Given the description of an element on the screen output the (x, y) to click on. 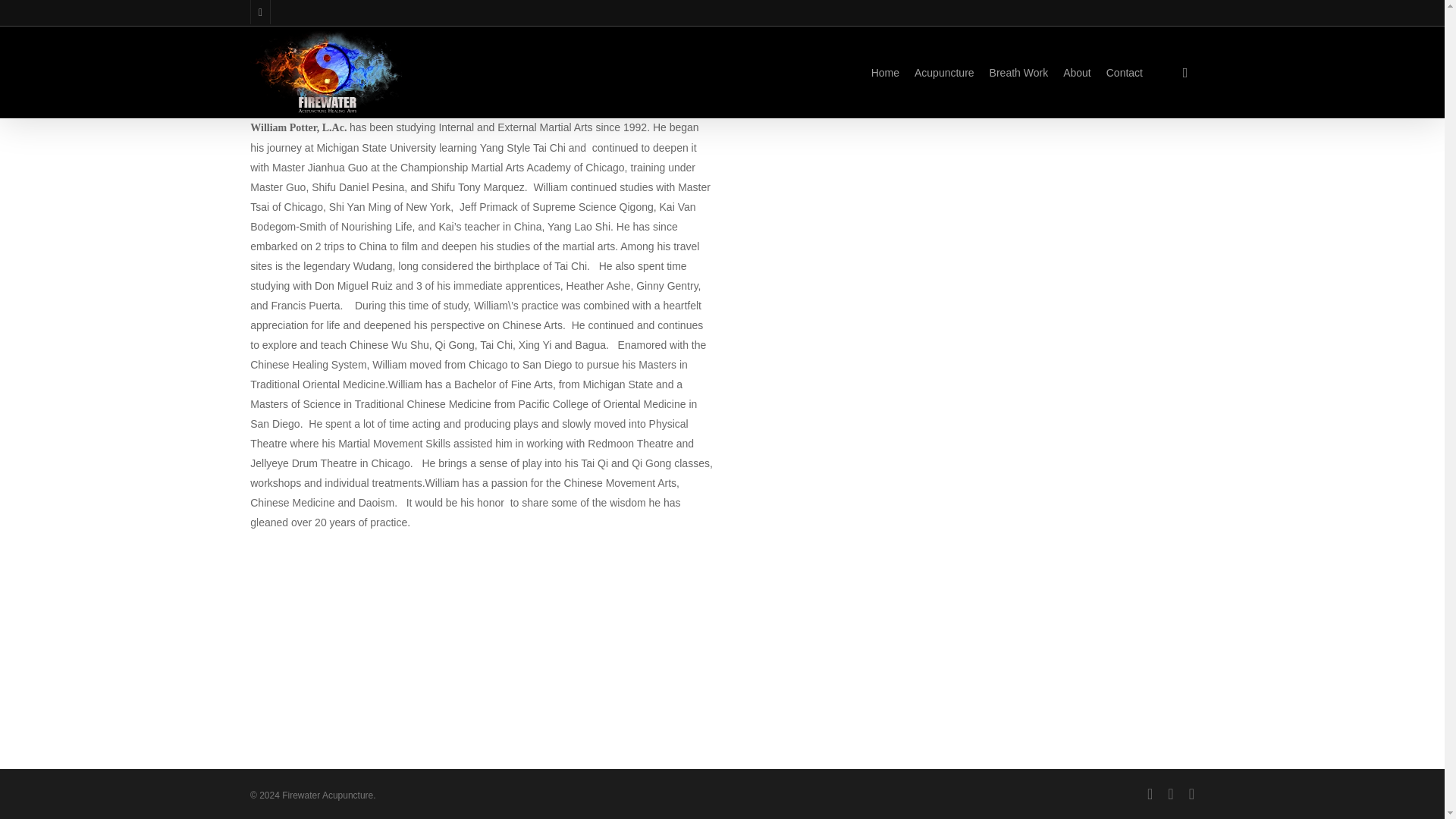
facebook (259, 12)
facebook (1170, 793)
twitter (1150, 793)
Home (884, 72)
search (1184, 72)
Contact (1124, 72)
Acupuncture (944, 72)
google-plus (1191, 793)
About (1076, 72)
Breath Work (1019, 72)
